Given the description of an element on the screen output the (x, y) to click on. 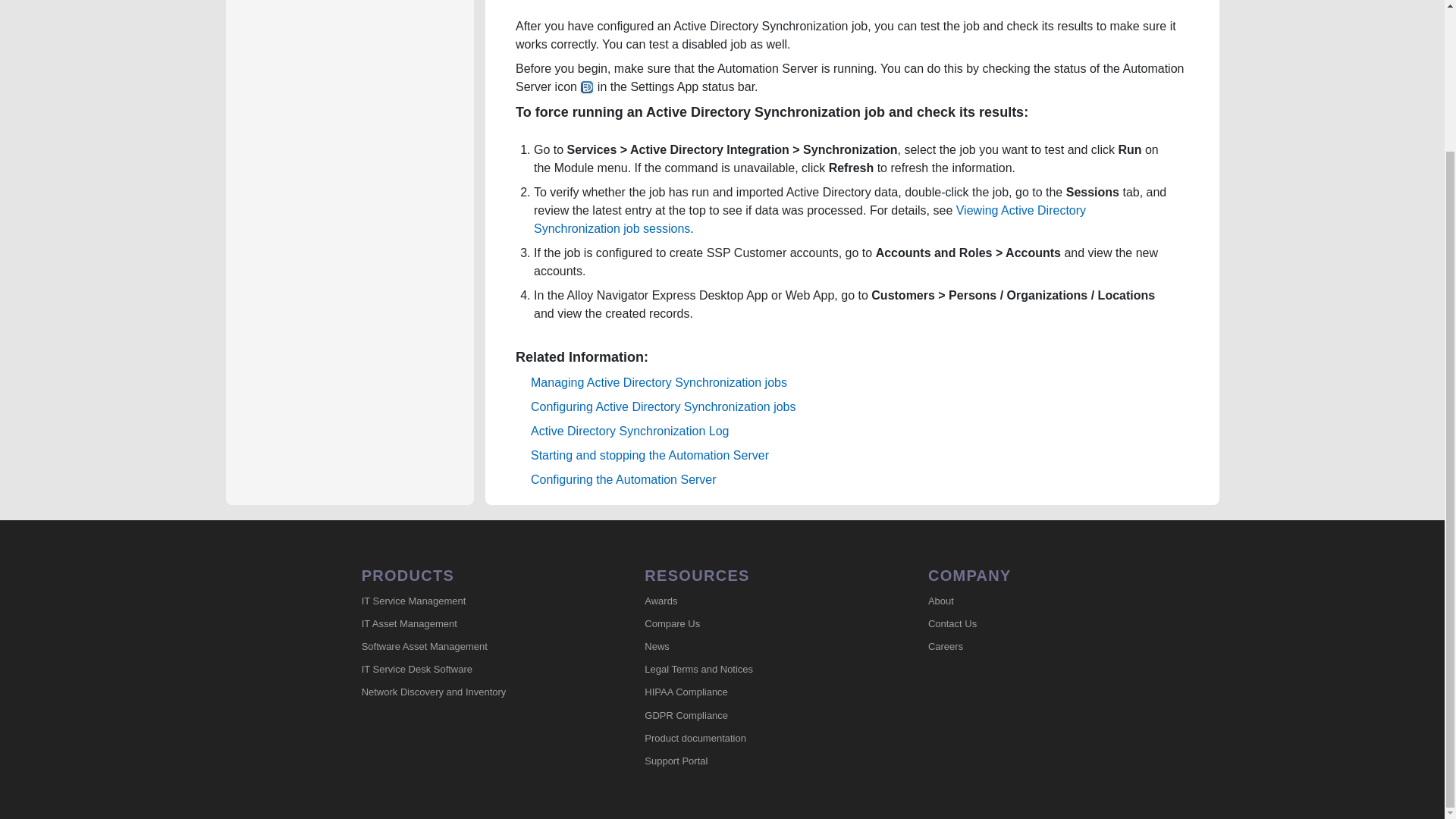
Configuring the Automation Server (623, 479)
IT Service Management (468, 600)
HIPAA Compliance (751, 692)
Compare Us (751, 623)
Careers (1034, 646)
GDPR Compliance (751, 715)
IT Asset Management (468, 623)
About (1034, 600)
Legal Terms and Notices (751, 670)
Product documentation (751, 738)
